Given the description of an element on the screen output the (x, y) to click on. 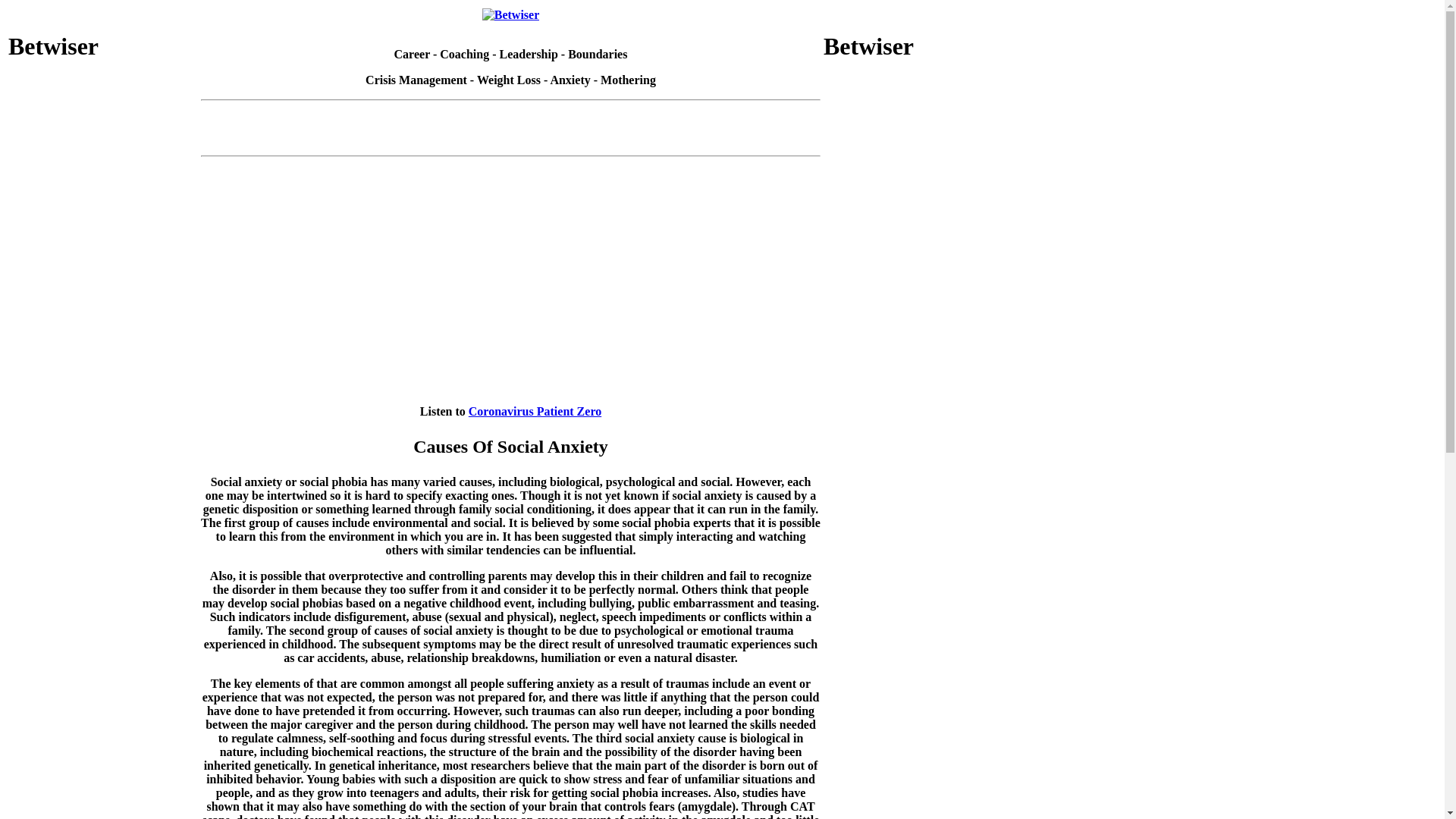
Advertisement (103, 592)
Leadership (528, 53)
Advertisement (918, 179)
Boundaries (597, 53)
Advertisement (510, 140)
Coaching (464, 53)
Anxiety (569, 79)
Career (411, 53)
Mothering (627, 79)
Coronavirus Patient Zero (534, 410)
Advertisement (103, 385)
Crisis Management (416, 79)
Advertisement (918, 592)
Advertisement (103, 179)
Weight Loss (508, 79)
